Given the description of an element on the screen output the (x, y) to click on. 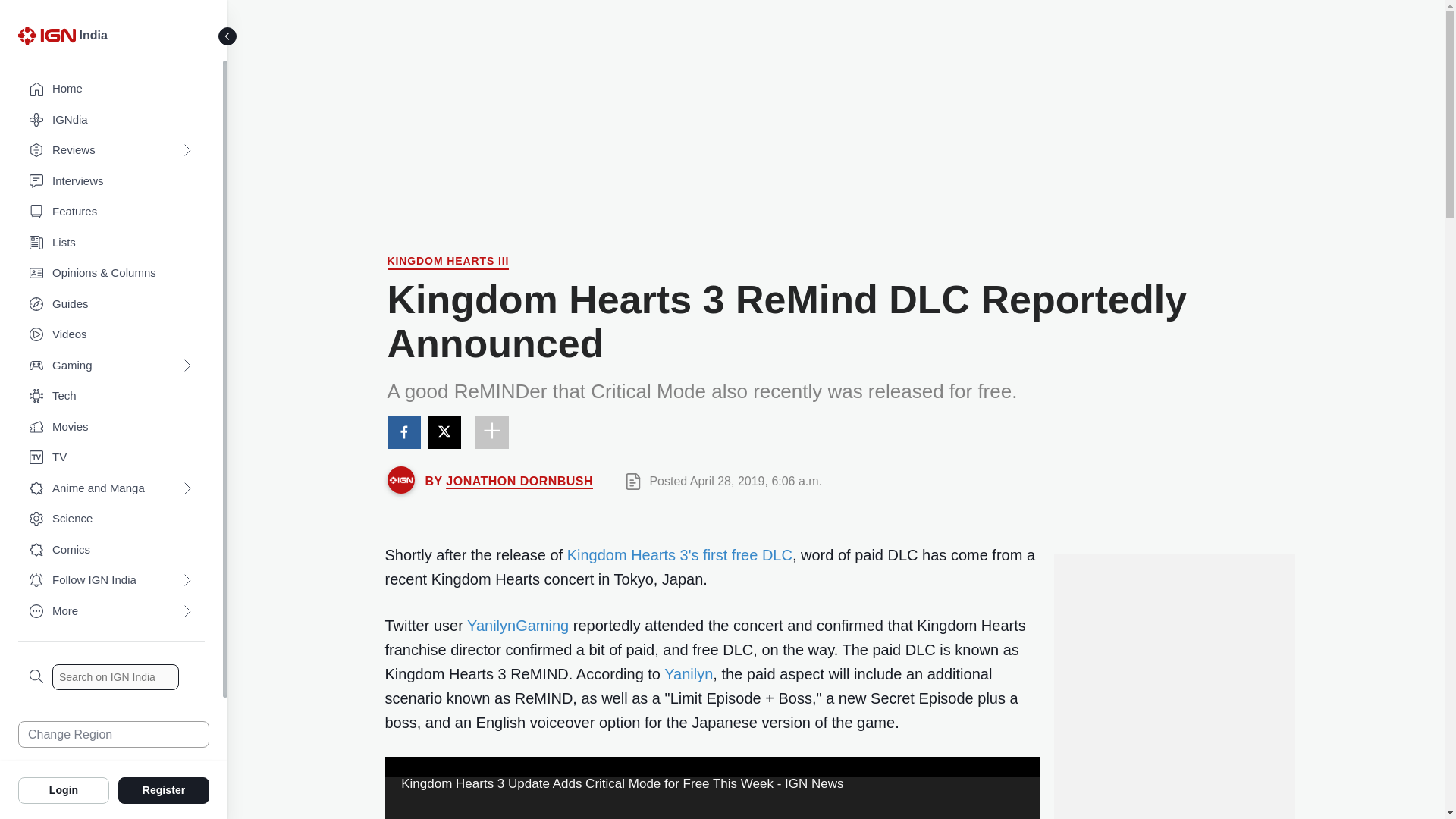
Comics (111, 550)
Follow IGN India (111, 580)
Kingdom Hearts III (447, 262)
Videos (111, 334)
More (111, 610)
Gaming (111, 365)
Lists (111, 242)
Movies (111, 427)
Features (111, 211)
Interviews (111, 181)
